Given the description of an element on the screen output the (x, y) to click on. 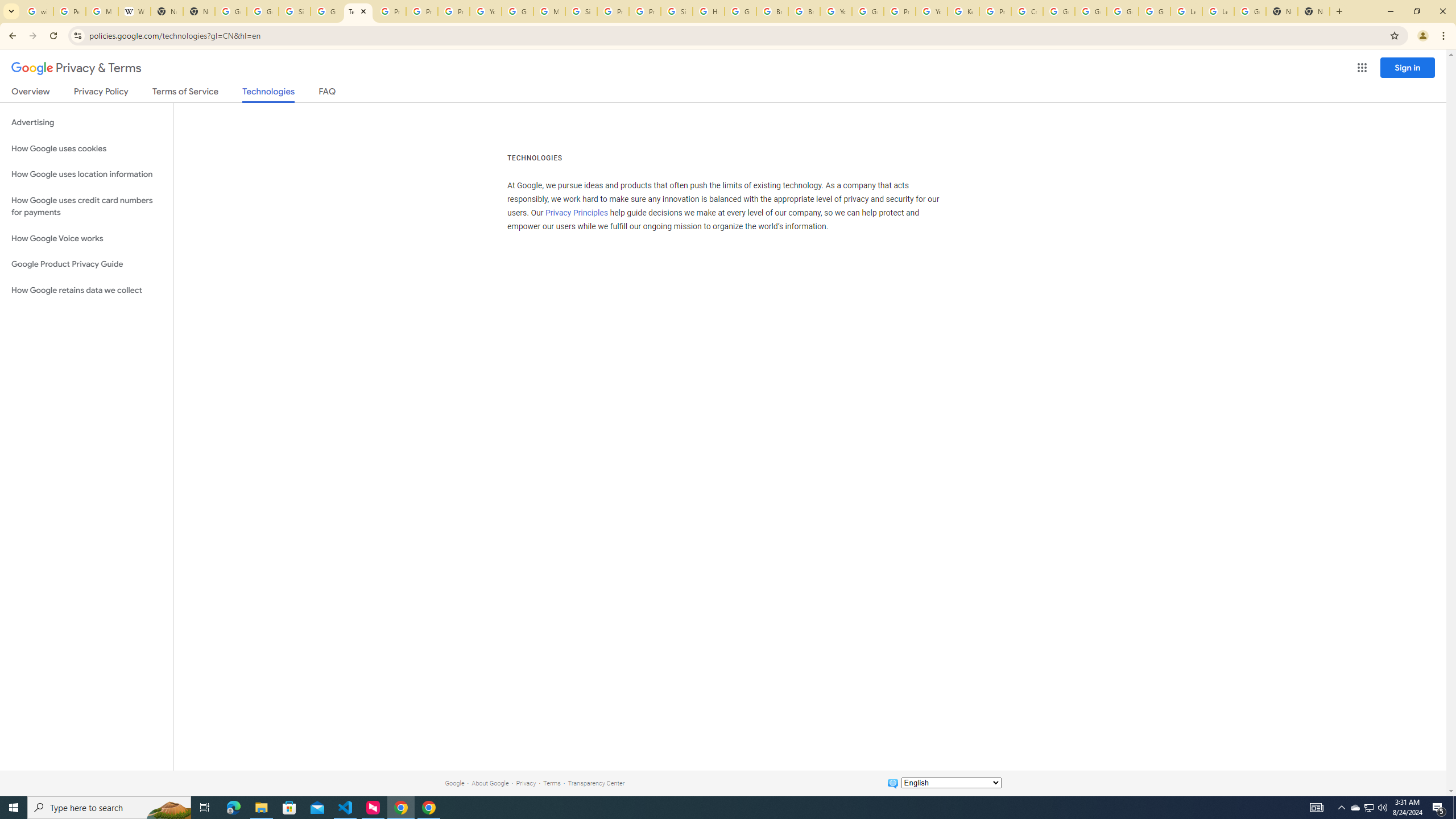
Google Account Help (1123, 11)
Google Product Privacy Guide (86, 264)
Manage your Location History - Google Search Help (101, 11)
Sign in - Google Accounts (581, 11)
Brand Resource Center (772, 11)
Google Account Help (517, 11)
